Given the description of an element on the screen output the (x, y) to click on. 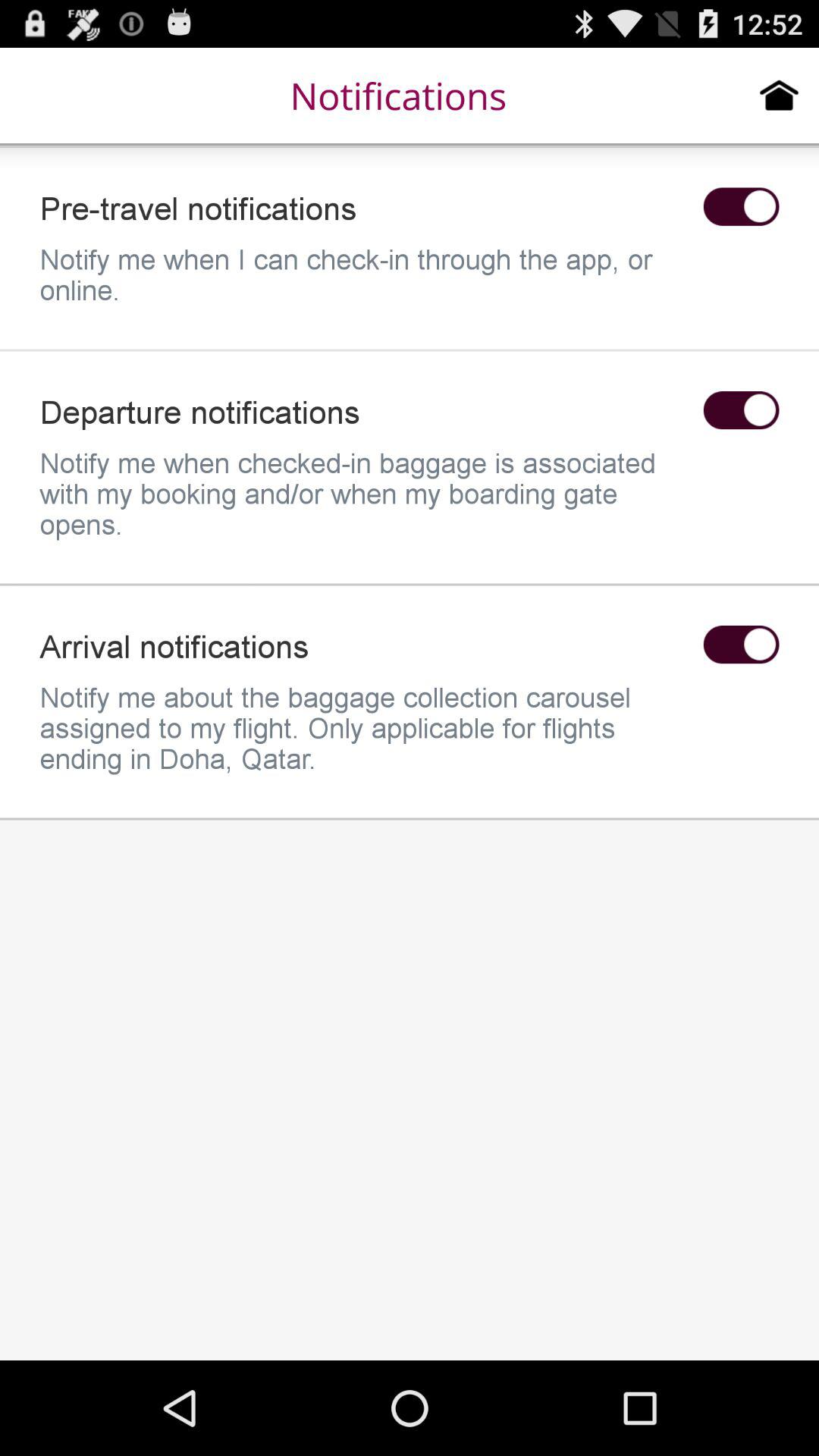
toggle departure notifications (741, 410)
